Given the description of an element on the screen output the (x, y) to click on. 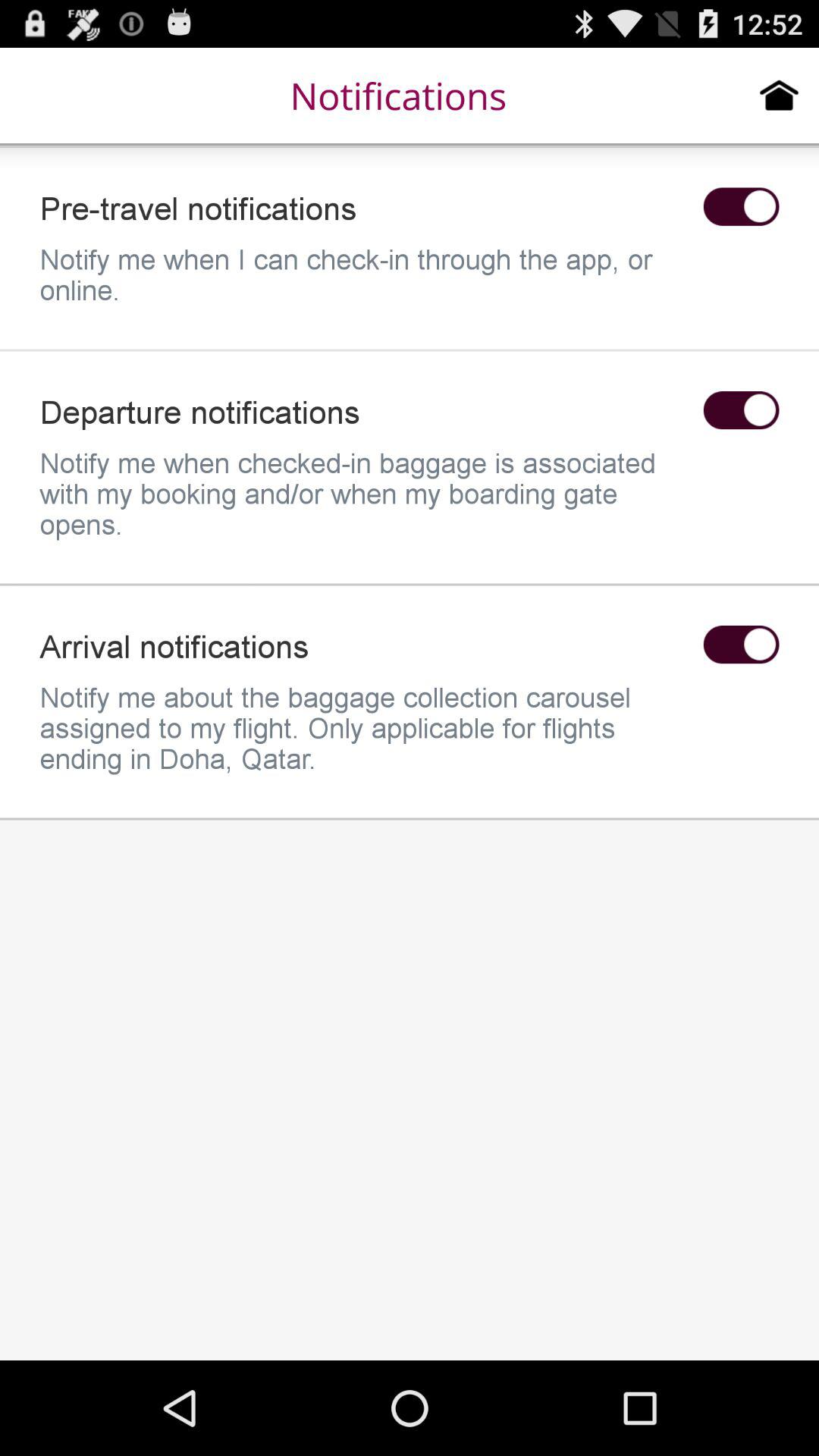
toggle departure notifications (741, 410)
